Given the description of an element on the screen output the (x, y) to click on. 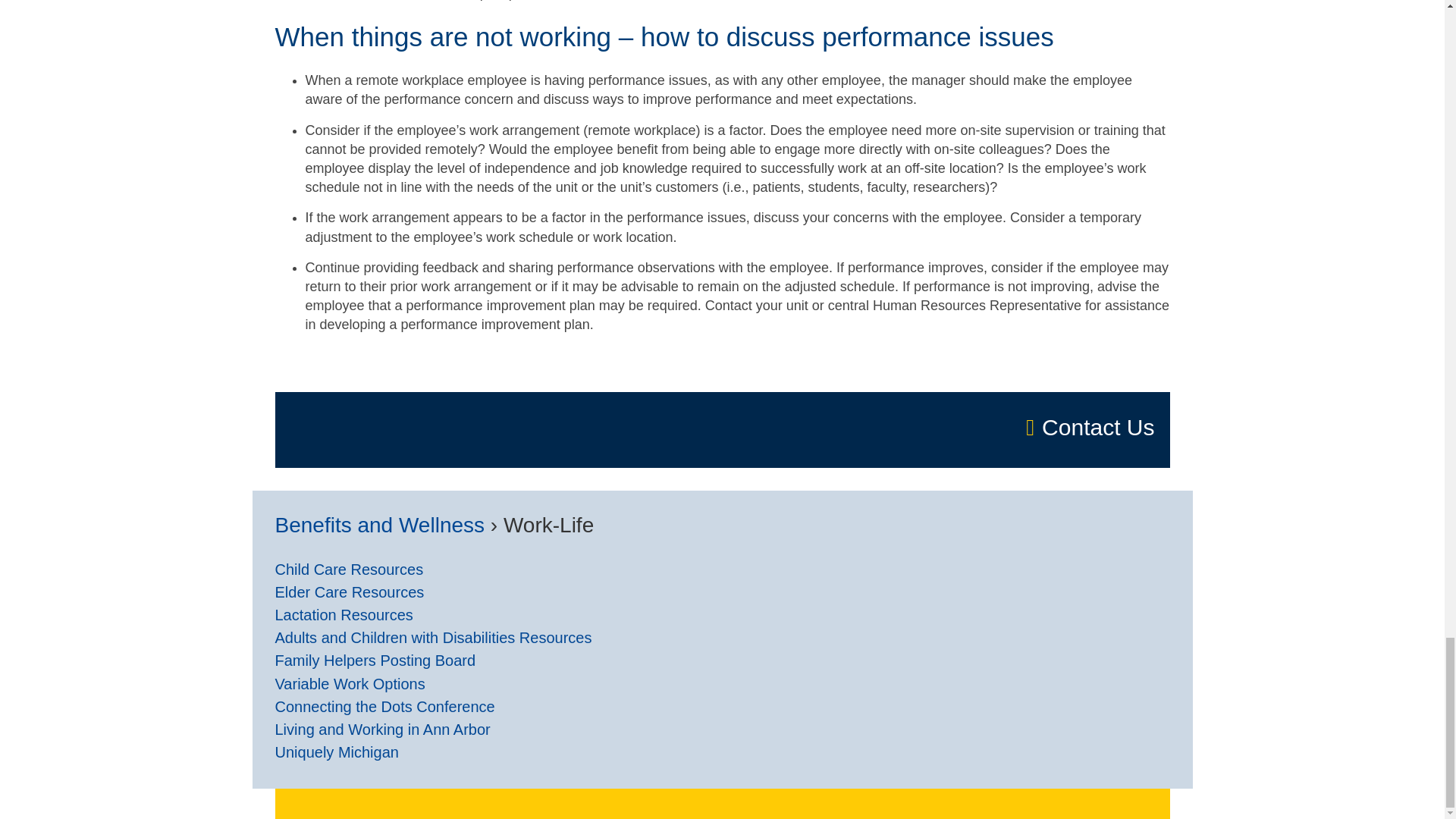
Family Helpers Posting Board (375, 660)
Uniquely Michigan (336, 752)
Child Care Resources (349, 569)
Variable Work Options (350, 683)
Lactation Resources (343, 615)
Adults and Children with Disabilities Resources (433, 637)
Living and Working in Ann Arbor (382, 729)
Elder Care Resources (349, 592)
Connecting the Dots Conference (385, 706)
Benefits and Wellness (379, 524)
